Given the description of an element on the screen output the (x, y) to click on. 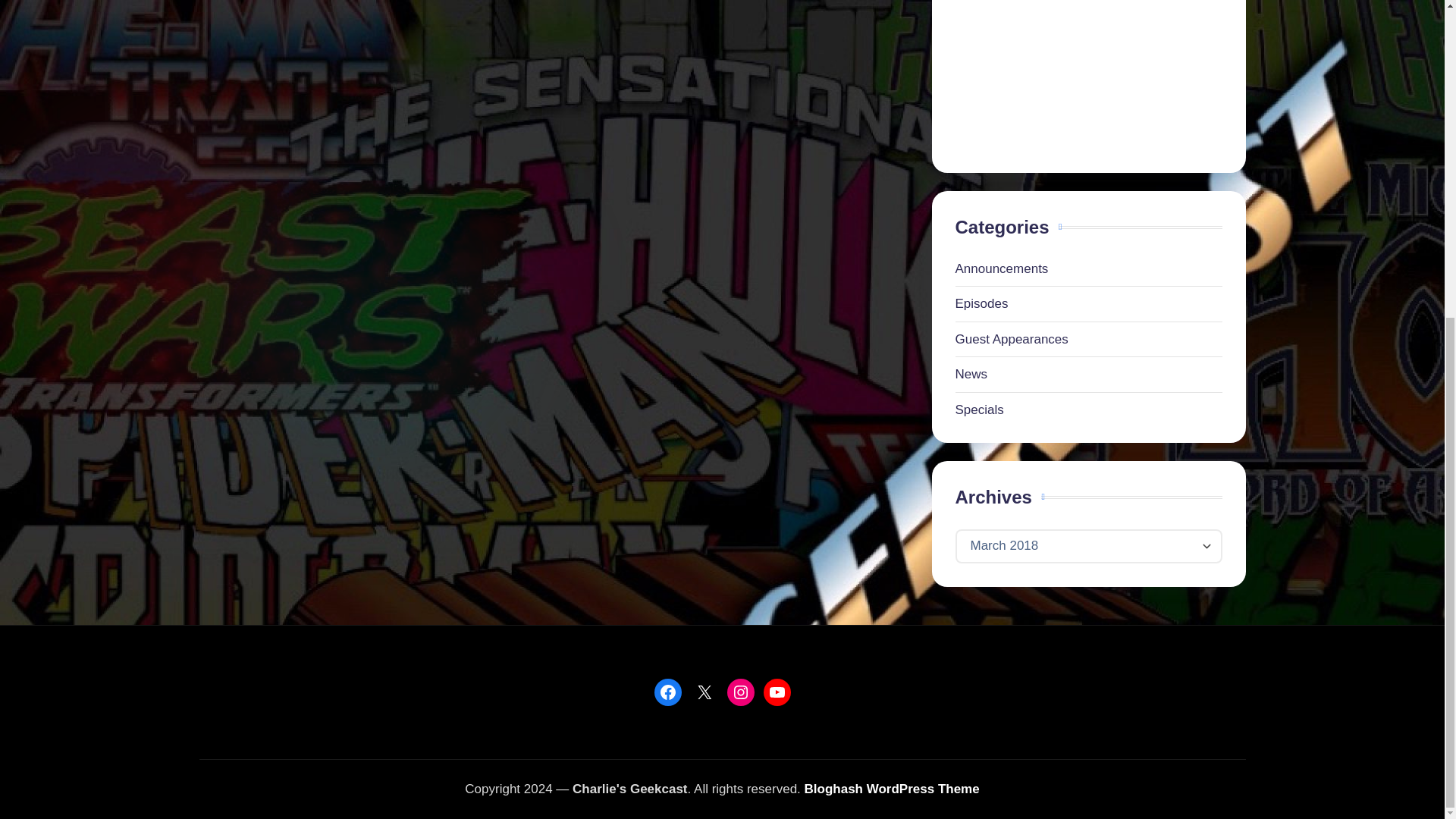
Facebook (667, 691)
Episodes (1089, 303)
Instagram (740, 691)
Bloghash WordPress Theme (892, 789)
News (1089, 374)
Specials (1089, 410)
Guest Appearances (1089, 339)
Announcements (1089, 269)
X (703, 691)
YouTube (776, 691)
